Given the description of an element on the screen output the (x, y) to click on. 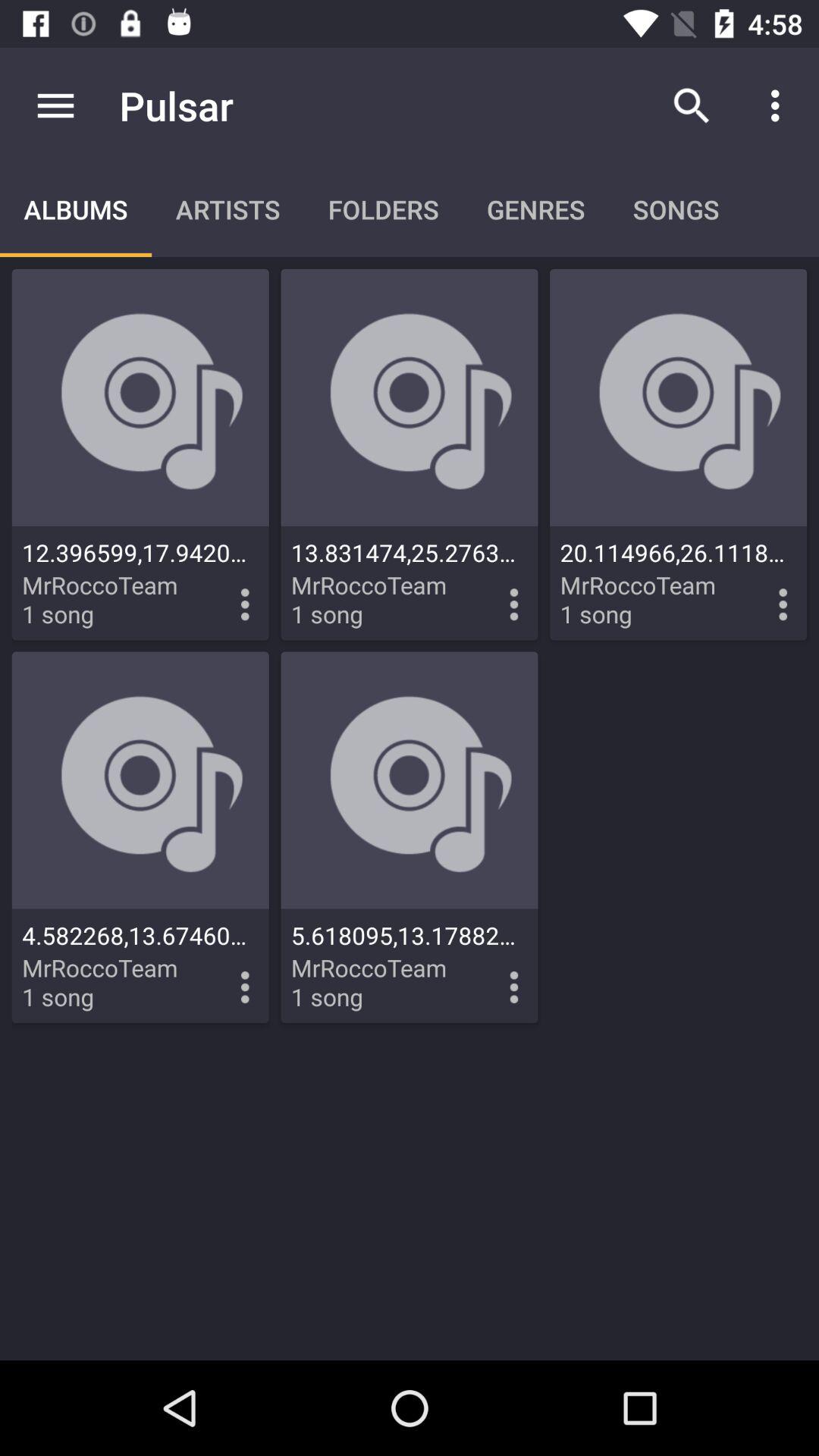
launch icon to the right of pulsar item (691, 105)
